Given the description of an element on the screen output the (x, y) to click on. 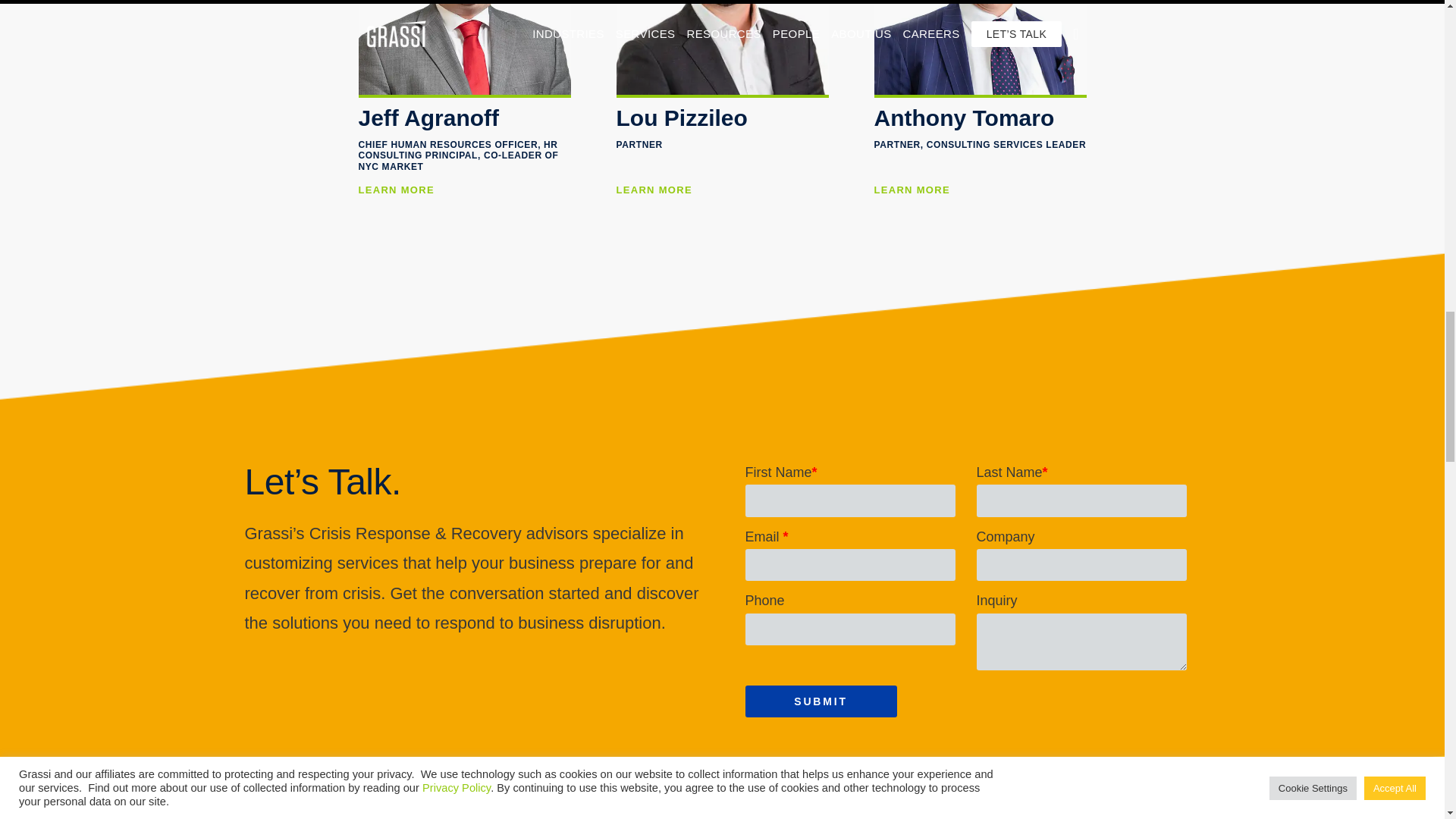
Submit (820, 701)
